Given the description of an element on the screen output the (x, y) to click on. 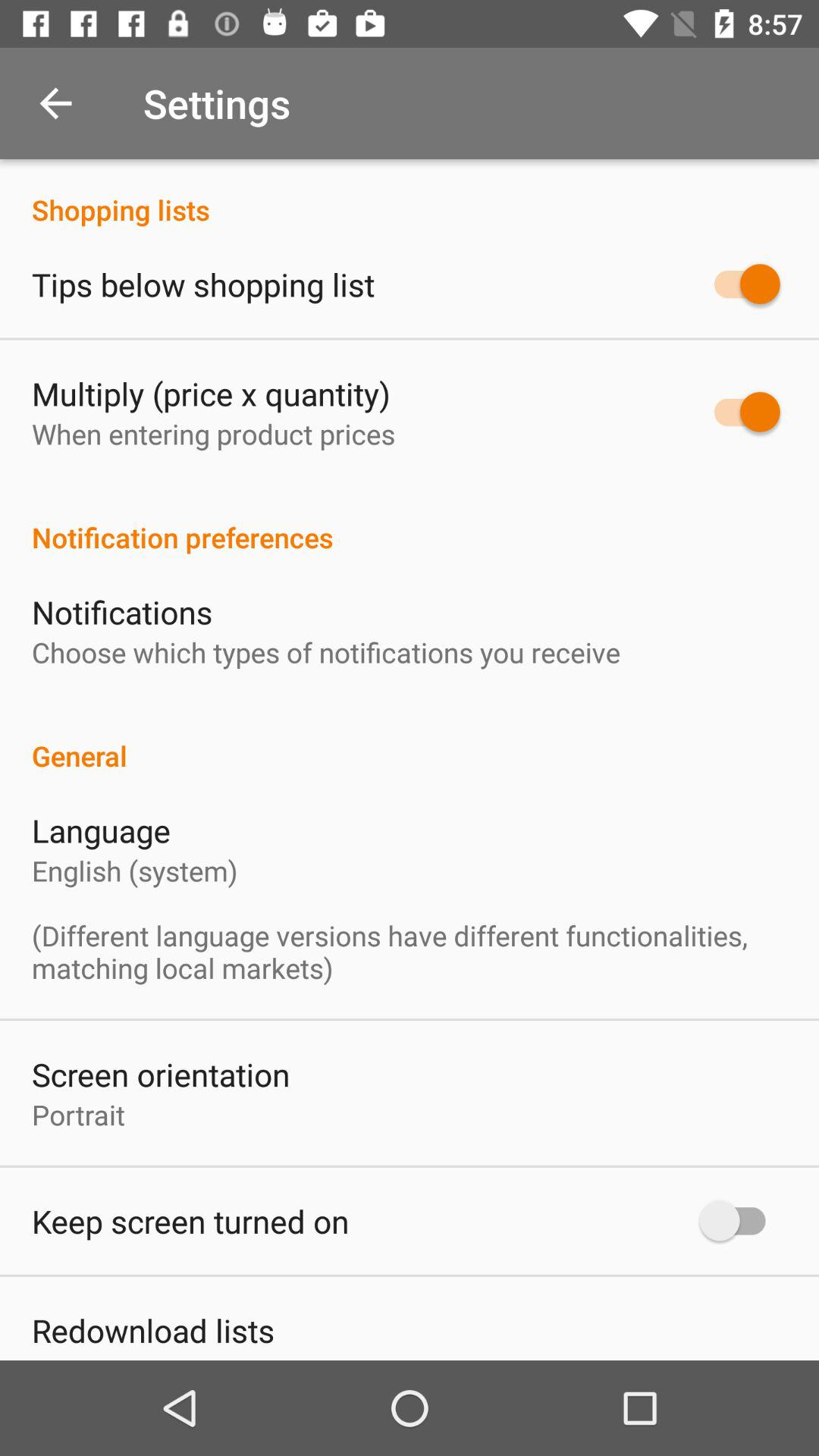
swipe until tips below shopping (202, 283)
